Given the description of an element on the screen output the (x, y) to click on. 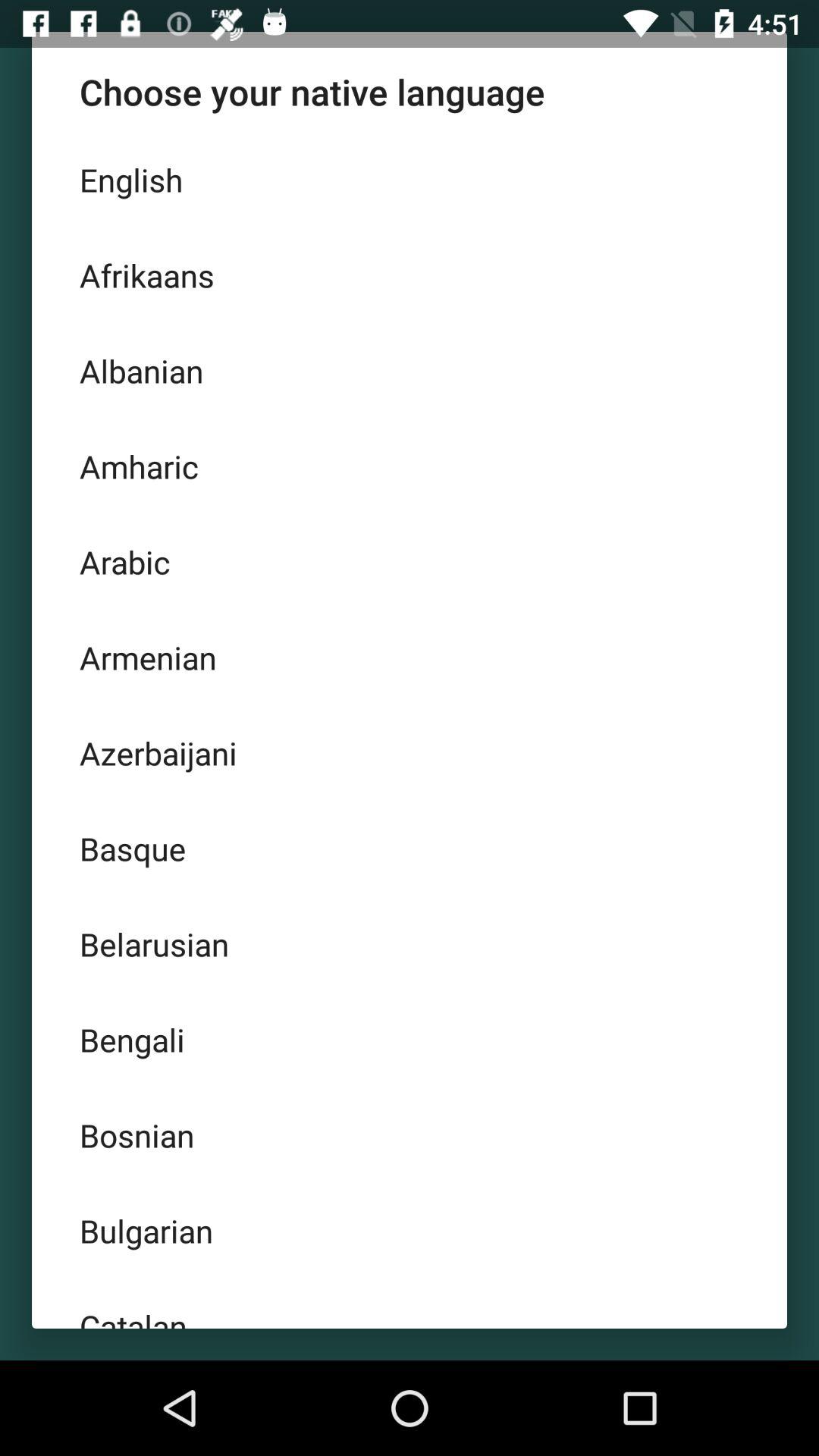
select item below the arabic (409, 657)
